Given the description of an element on the screen output the (x, y) to click on. 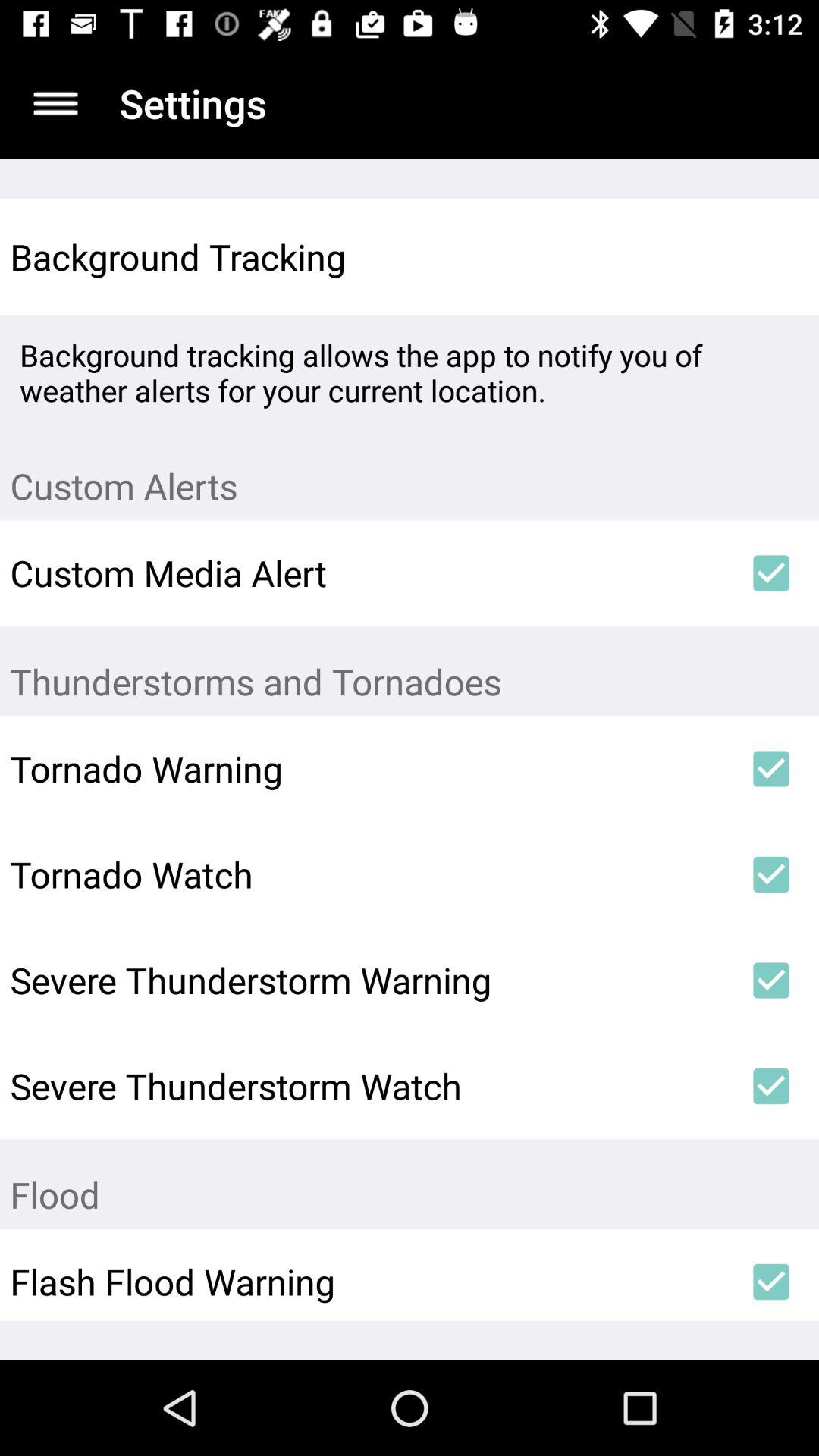
click the item next to the severe thunderstorm watch (771, 1086)
